Given the description of an element on the screen output the (x, y) to click on. 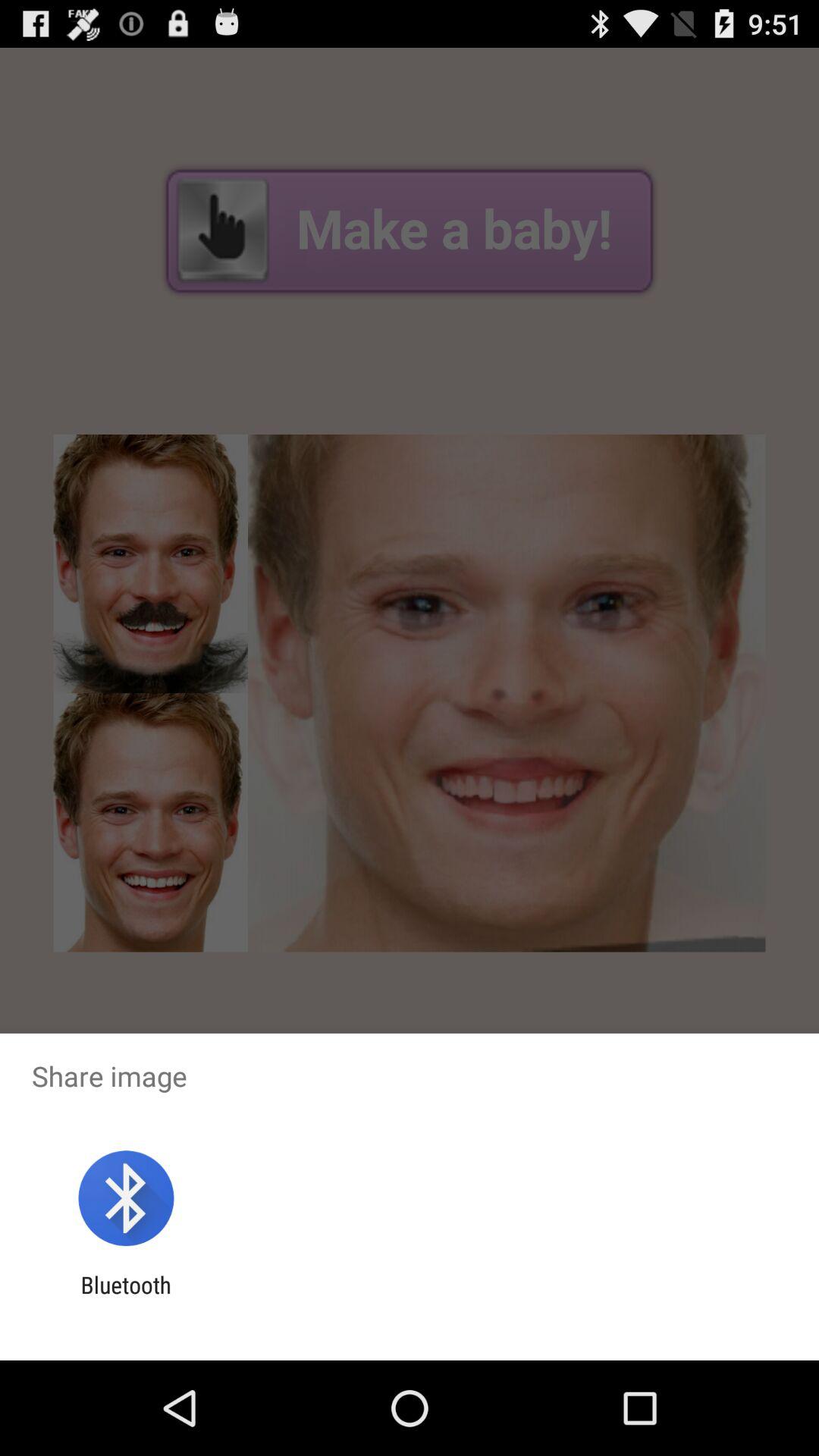
flip until bluetooth (125, 1298)
